Given the description of an element on the screen output the (x, y) to click on. 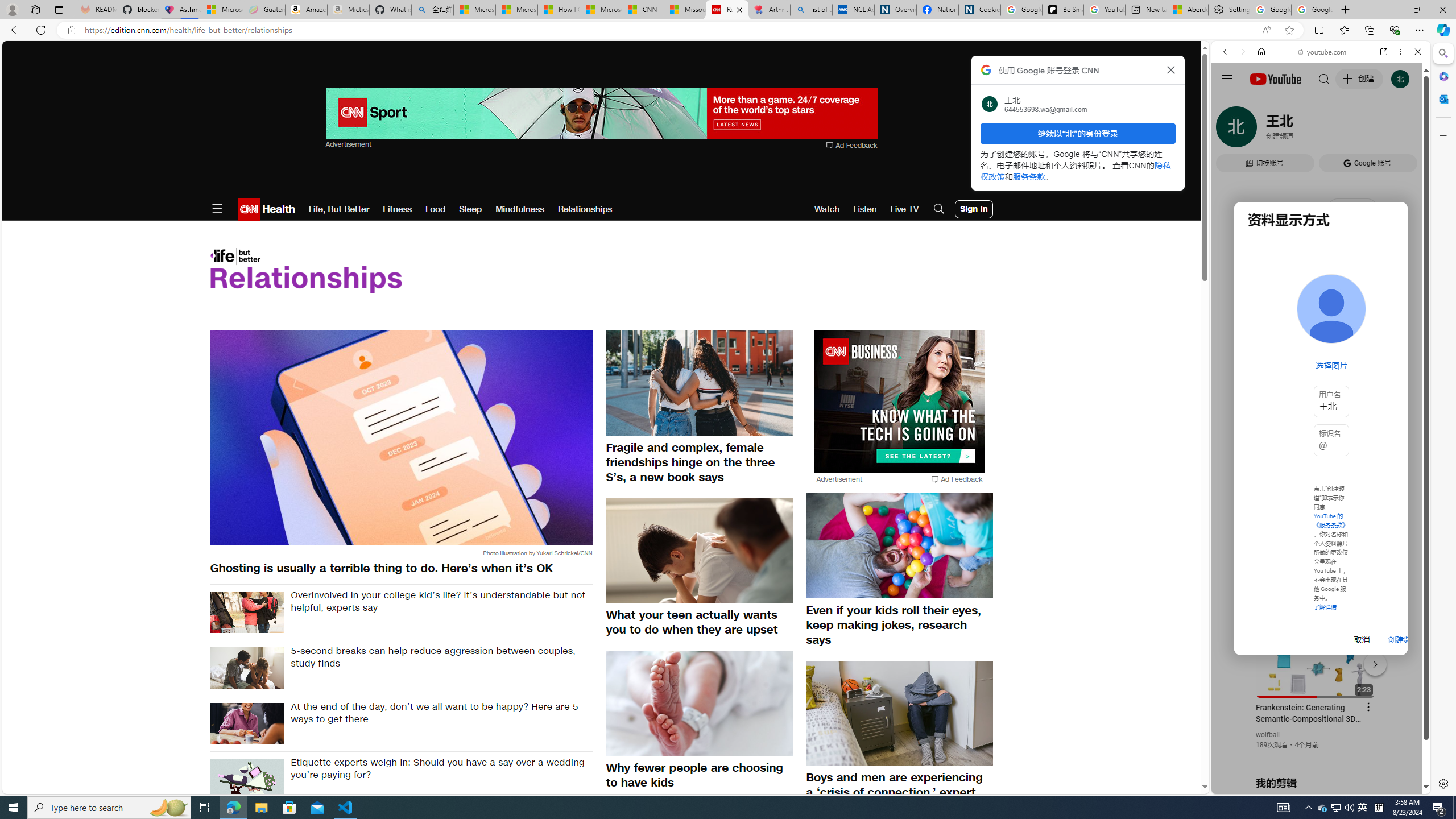
Click to scroll right (1407, 456)
SEARCH TOOLS (1350, 130)
Life, But Better - Relationships (305, 270)
Search Icon (938, 208)
US[ju] (1249, 785)
YouTube - YouTube (1315, 560)
